Given the description of an element on the screen output the (x, y) to click on. 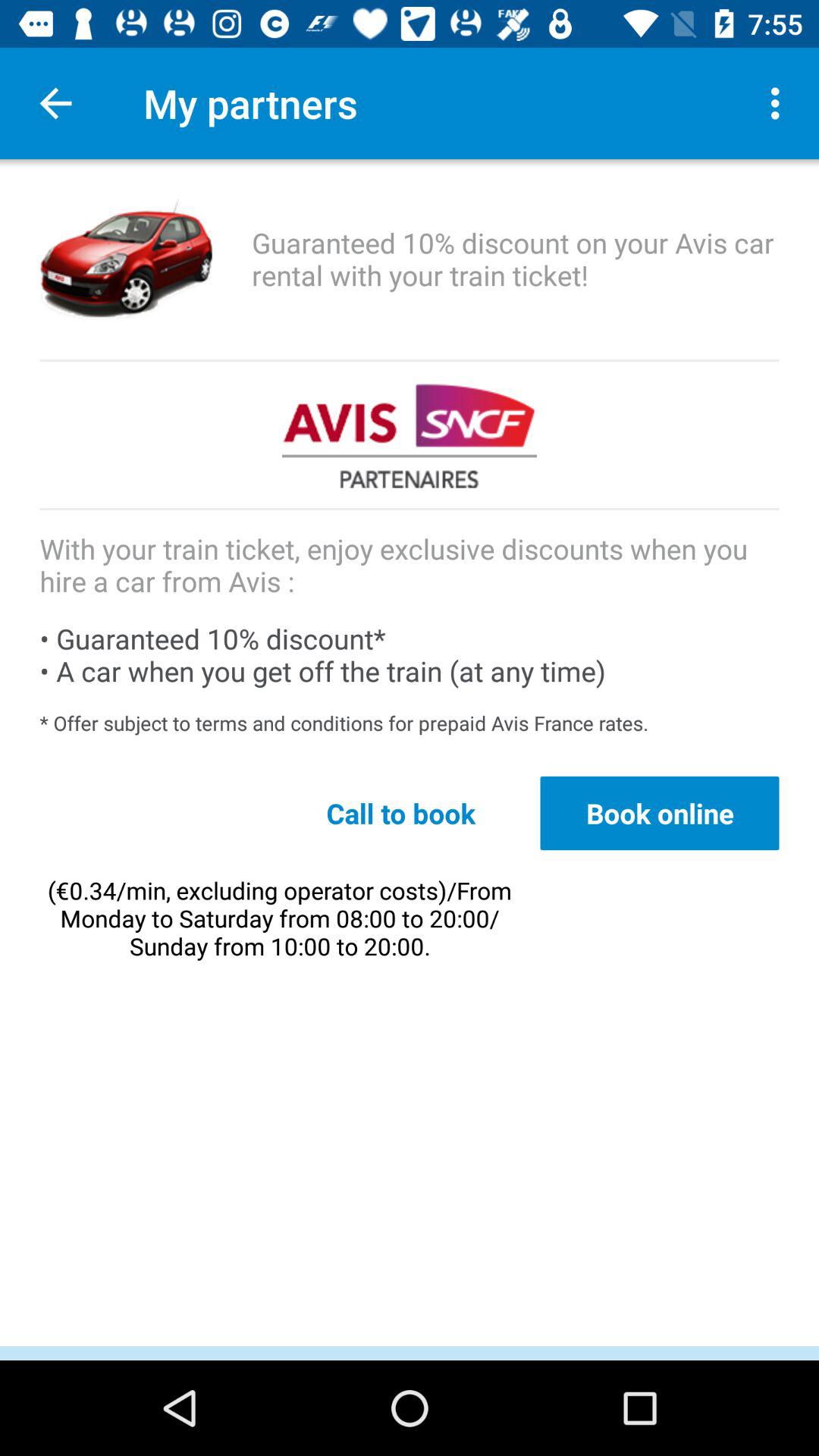
choose icon next to my partners item (779, 103)
